Given the description of an element on the screen output the (x, y) to click on. 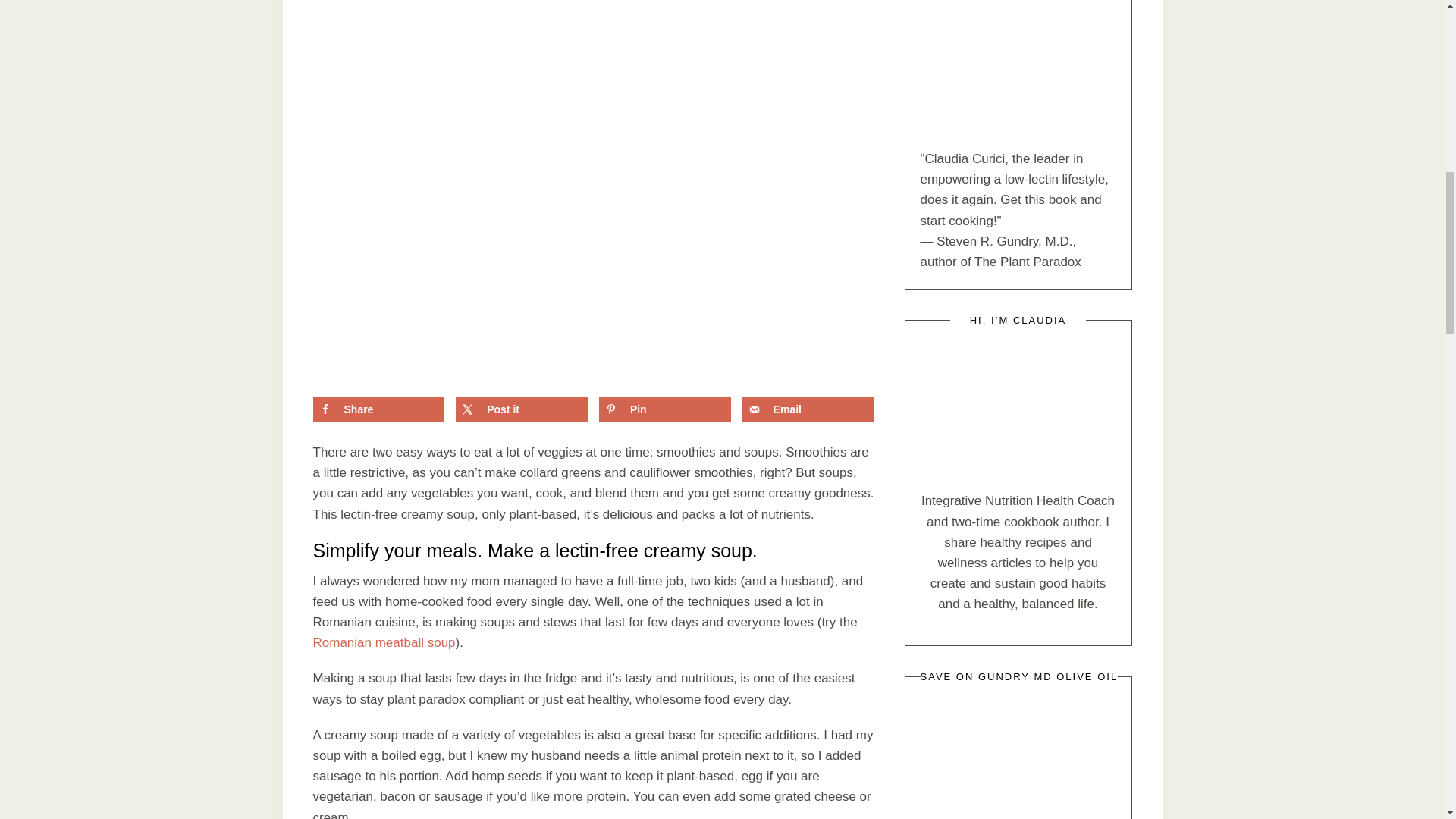
Share on Facebook (378, 409)
Share on X (521, 409)
Save to Pinterest (664, 409)
Send over email (808, 409)
